Given the description of an element on the screen output the (x, y) to click on. 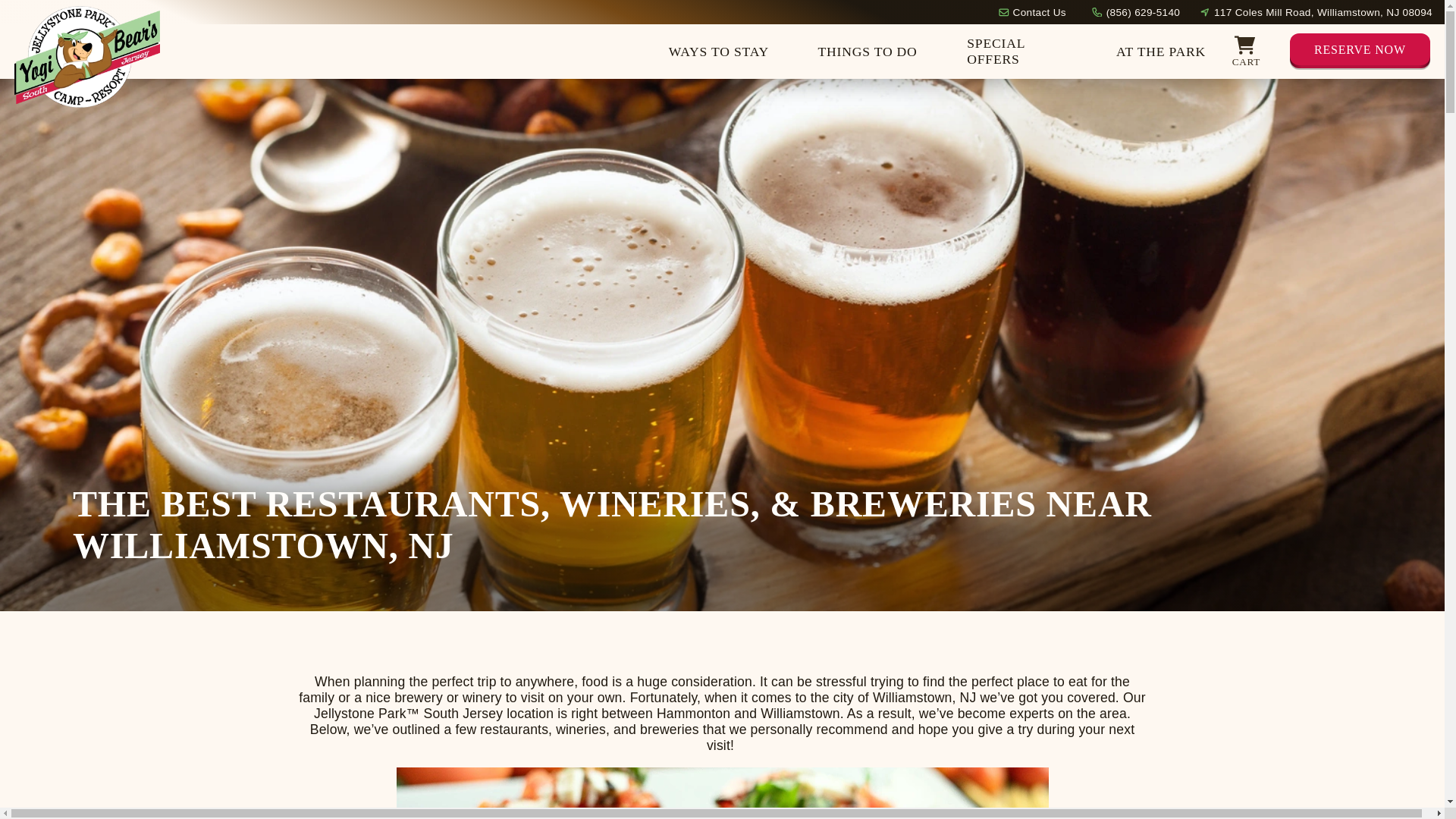
Contact Us (1039, 11)
117 Coles Mill Road, Williamstown, NJ 08094 (1323, 11)
RESERVE NOW (1359, 51)
